Given the description of an element on the screen output the (x, y) to click on. 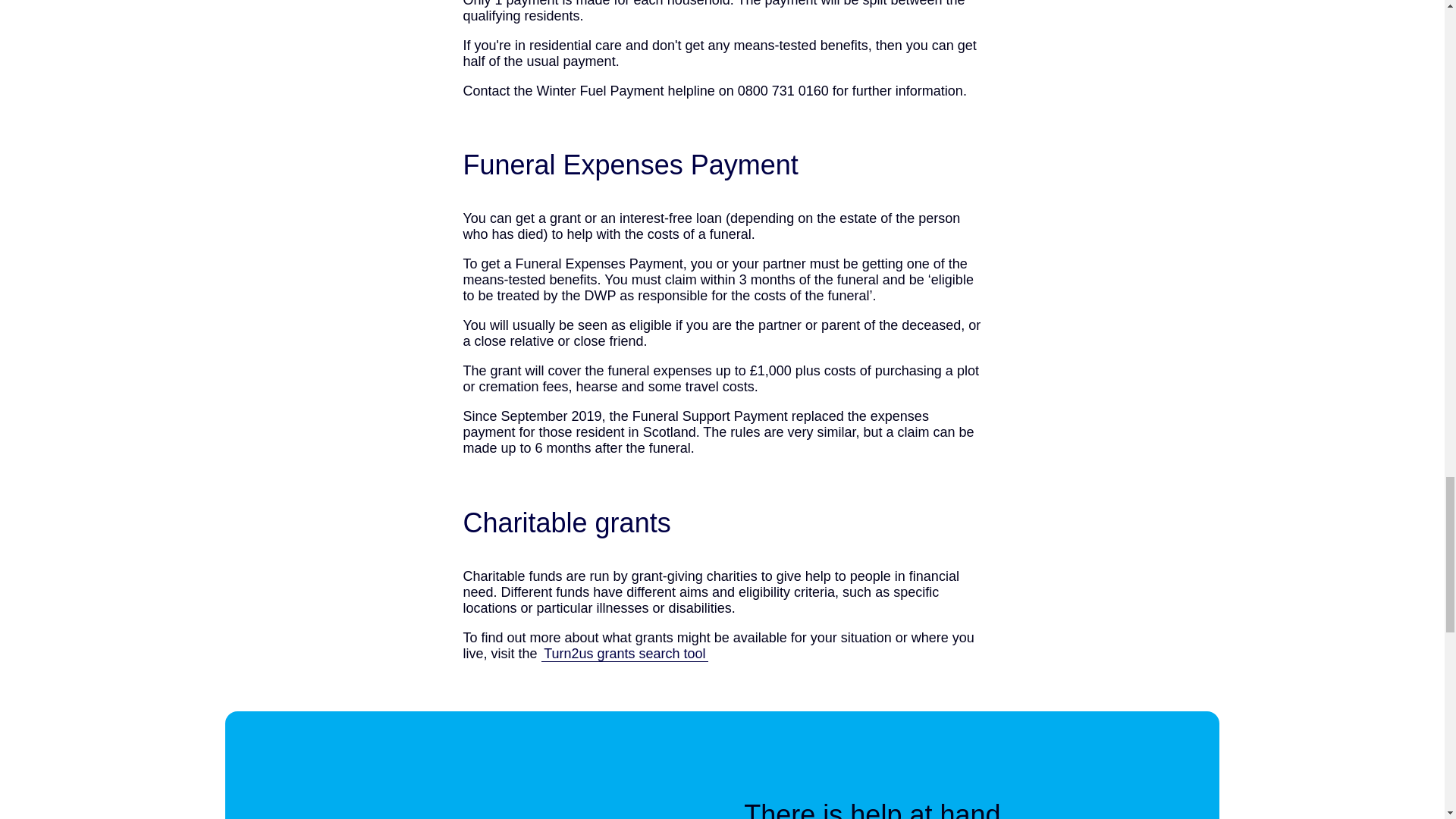
Turn2us website (625, 653)
